Given the description of an element on the screen output the (x, y) to click on. 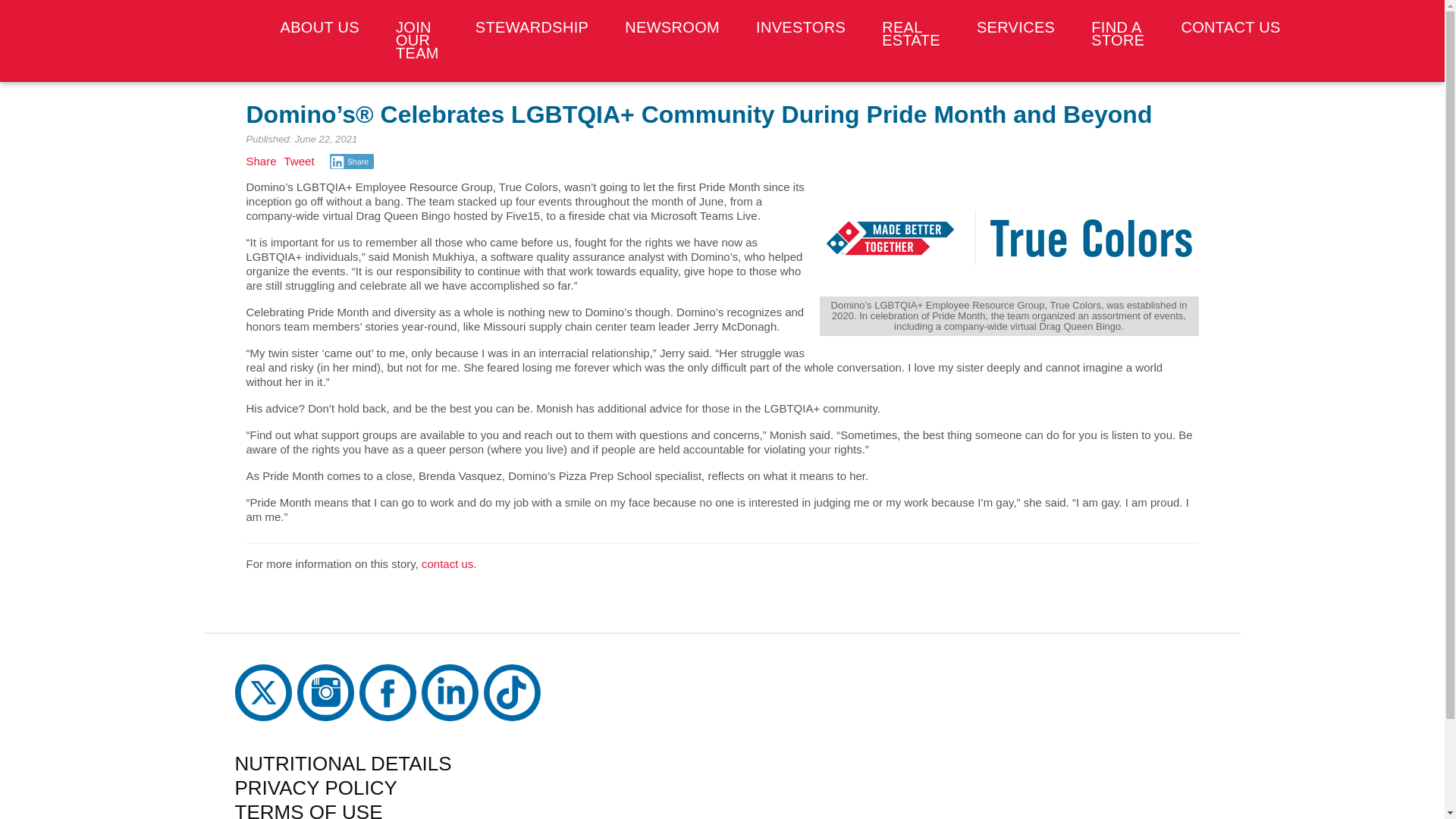
INVESTORS (800, 27)
REAL ESTATE (910, 33)
NEWSROOM (672, 27)
ABOUT US (319, 27)
STEWARDSHIP (532, 27)
JOIN OUR TEAM (417, 40)
